Given the description of an element on the screen output the (x, y) to click on. 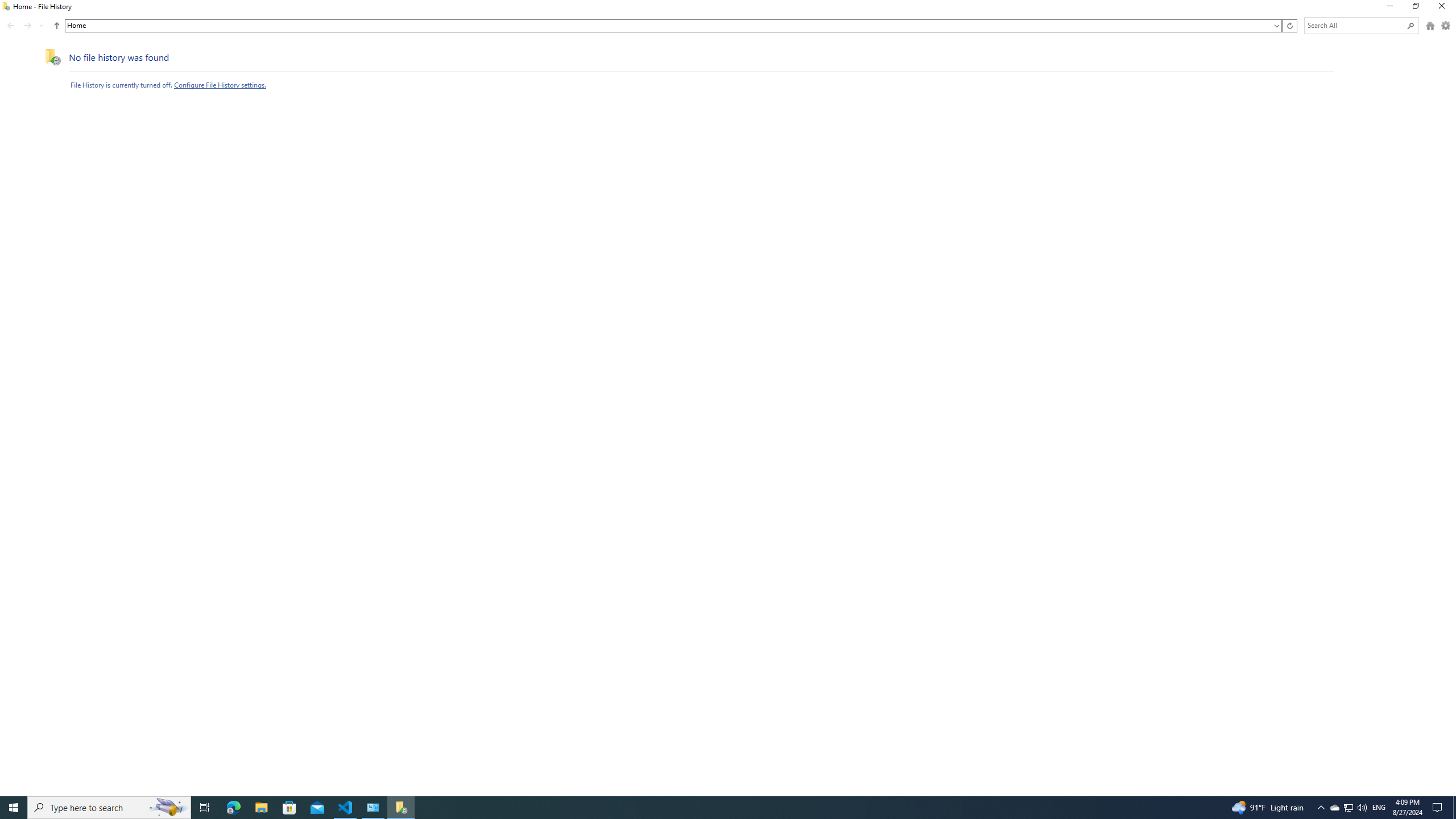
Minimize (1388, 8)
Search (1410, 25)
System (6, 6)
Search Box (1355, 25)
Refresh "Home" (F5) (1289, 25)
Refresh button (1289, 25)
